Given the description of an element on the screen output the (x, y) to click on. 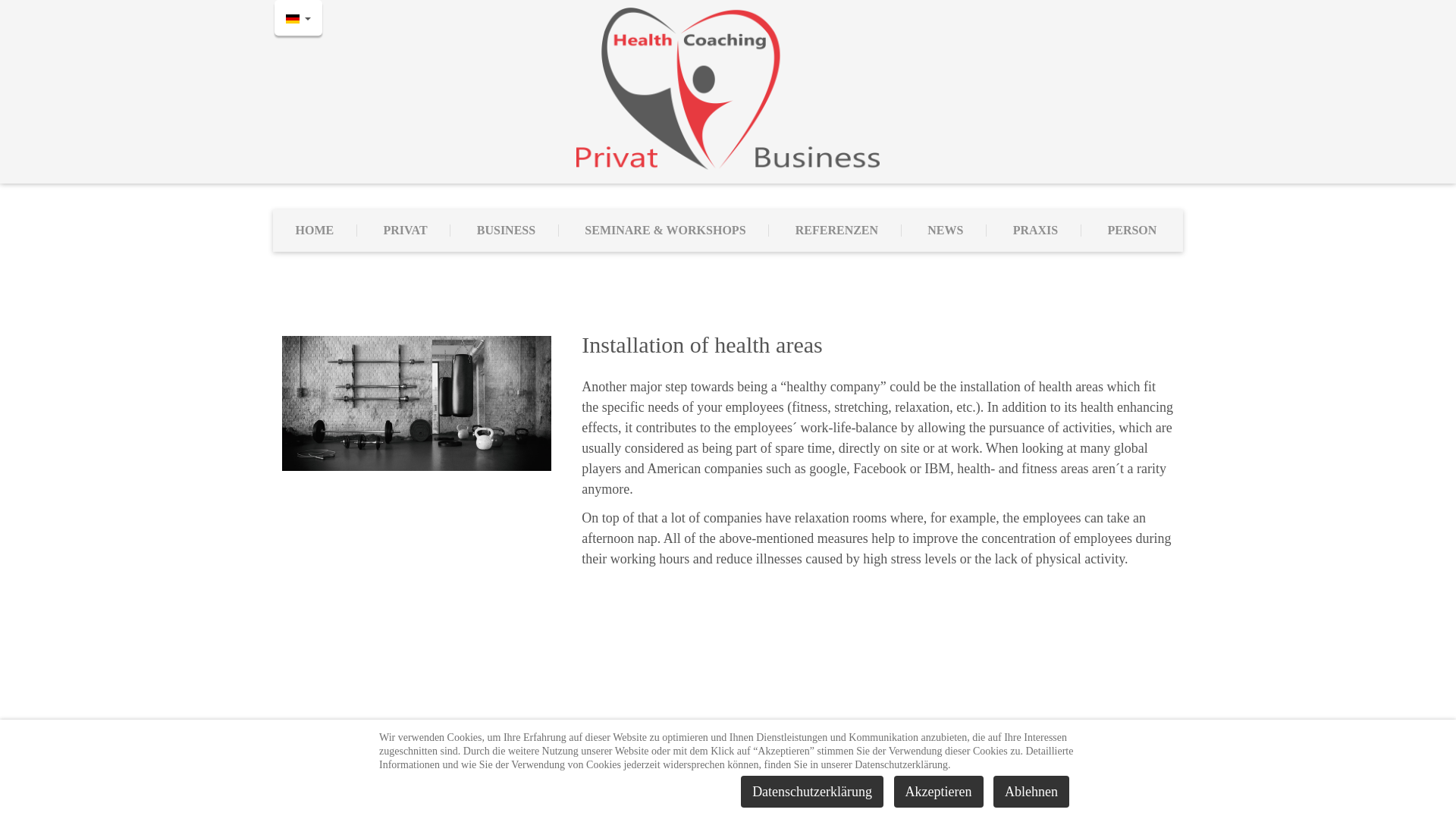
Impressum  (671, 771)
BUSINESS (506, 230)
PRIVAT (405, 230)
Home (727, 88)
it-in-time (879, 789)
Akzeptieren (938, 791)
NEWS (946, 230)
PERSON (1131, 230)
REFERENZEN (837, 230)
PRAXIS (1035, 230)
